Given the description of an element on the screen output the (x, y) to click on. 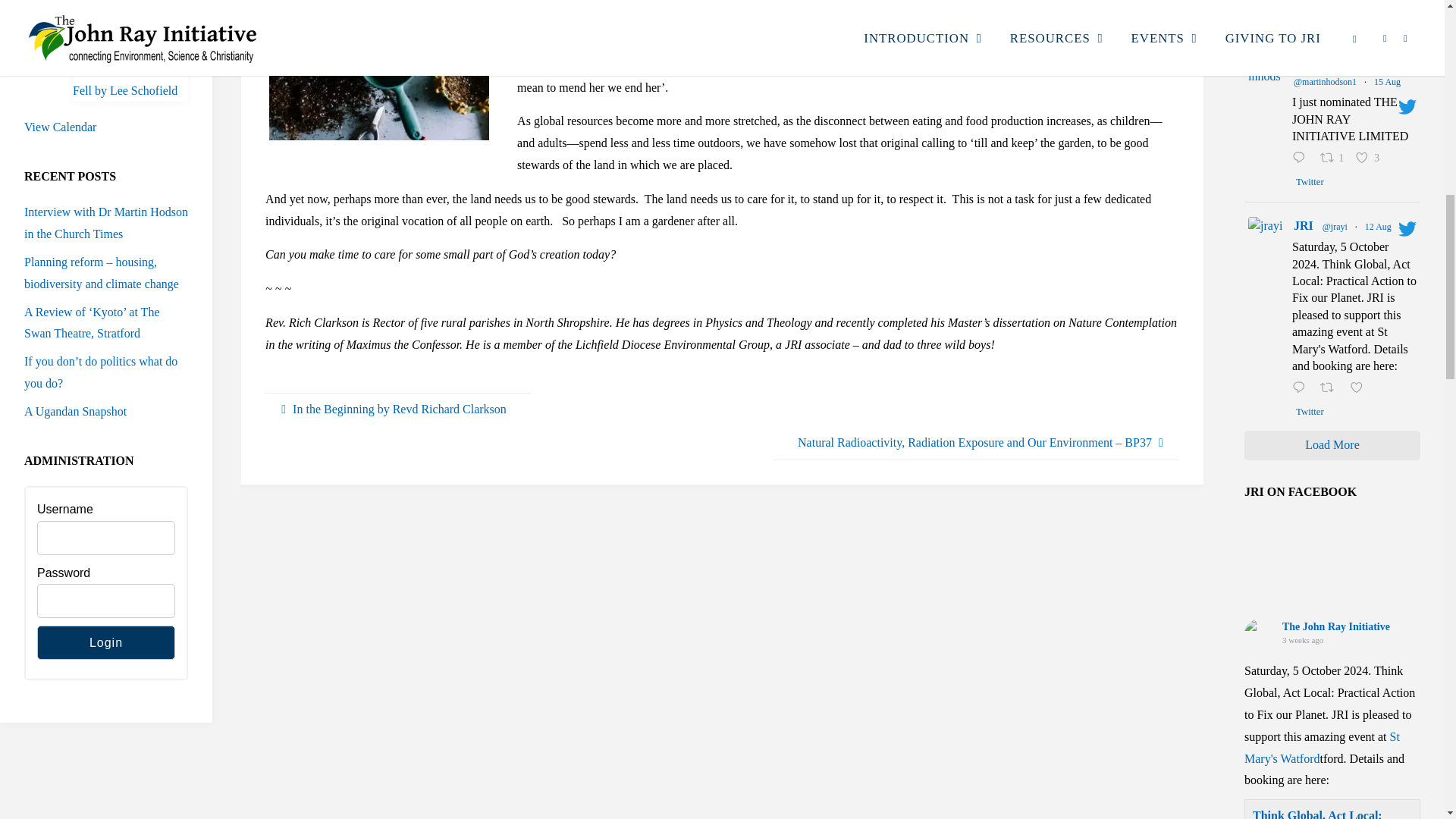
Please enter password (105, 600)
Webinar: Dr Adrian Howkins (120, 7)
Please enter username (105, 537)
JRI Bookclub: Wild Fell by Lee Schofield (124, 79)
View more events. (60, 126)
Login (105, 642)
The John Ray Initiative (1259, 634)
